Given the description of an element on the screen output the (x, y) to click on. 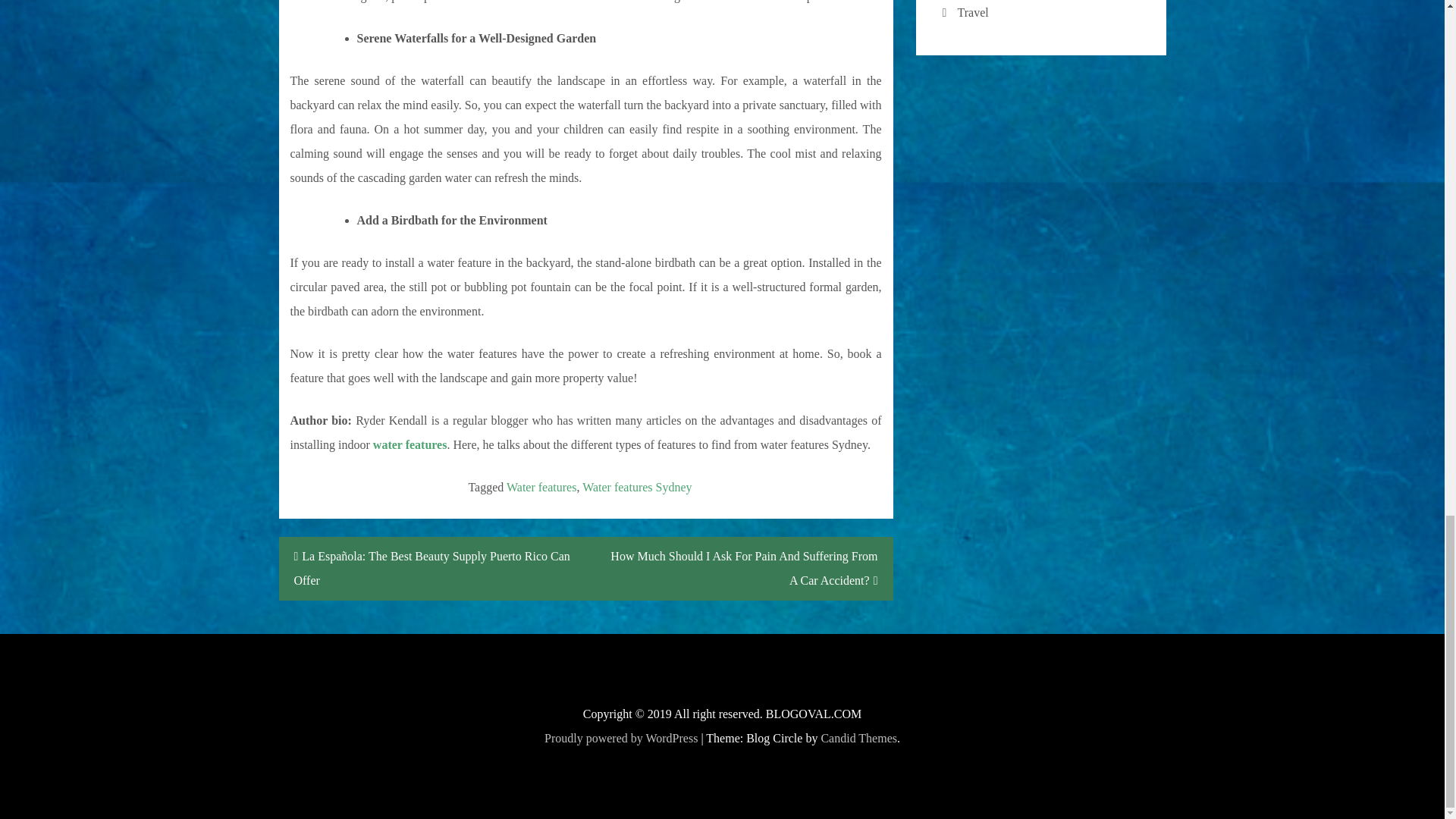
Water features (541, 486)
water features (409, 444)
Water features Sydney (636, 486)
